Given the description of an element on the screen output the (x, y) to click on. 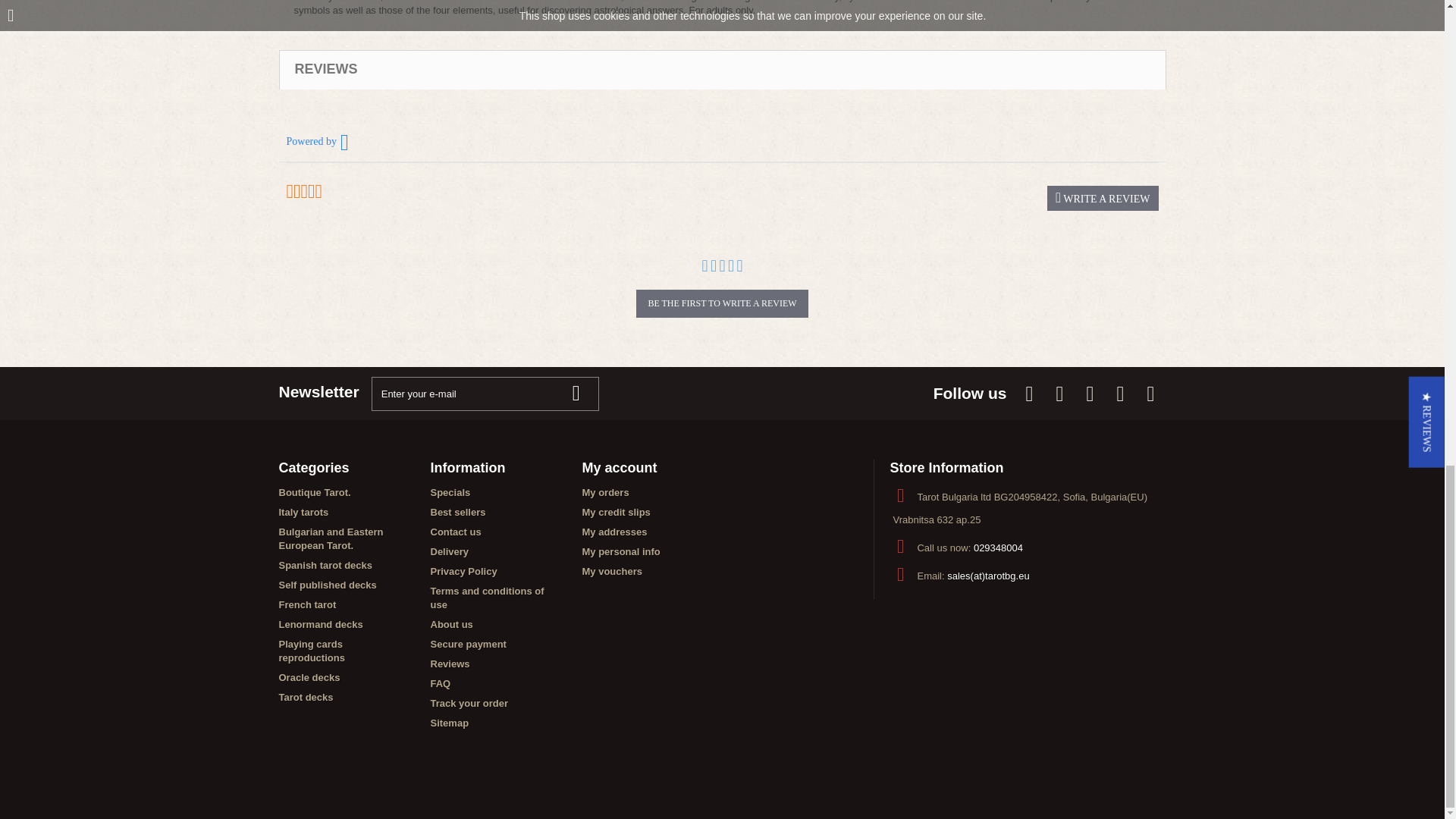
Enter your e-mail (484, 393)
